Given the description of an element on the screen output the (x, y) to click on. 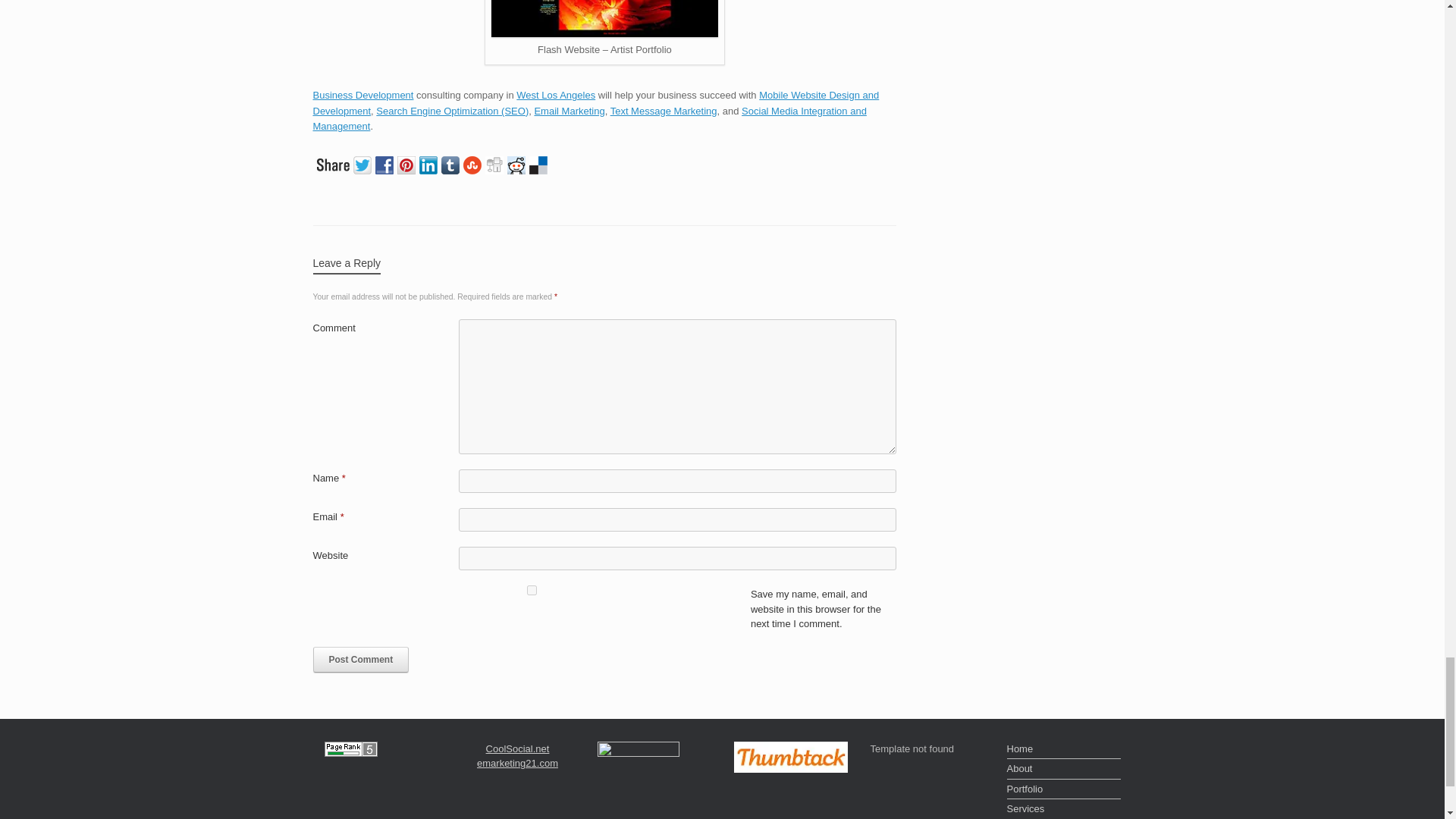
yes (531, 590)
Post Comment (361, 659)
